Given the description of an element on the screen output the (x, y) to click on. 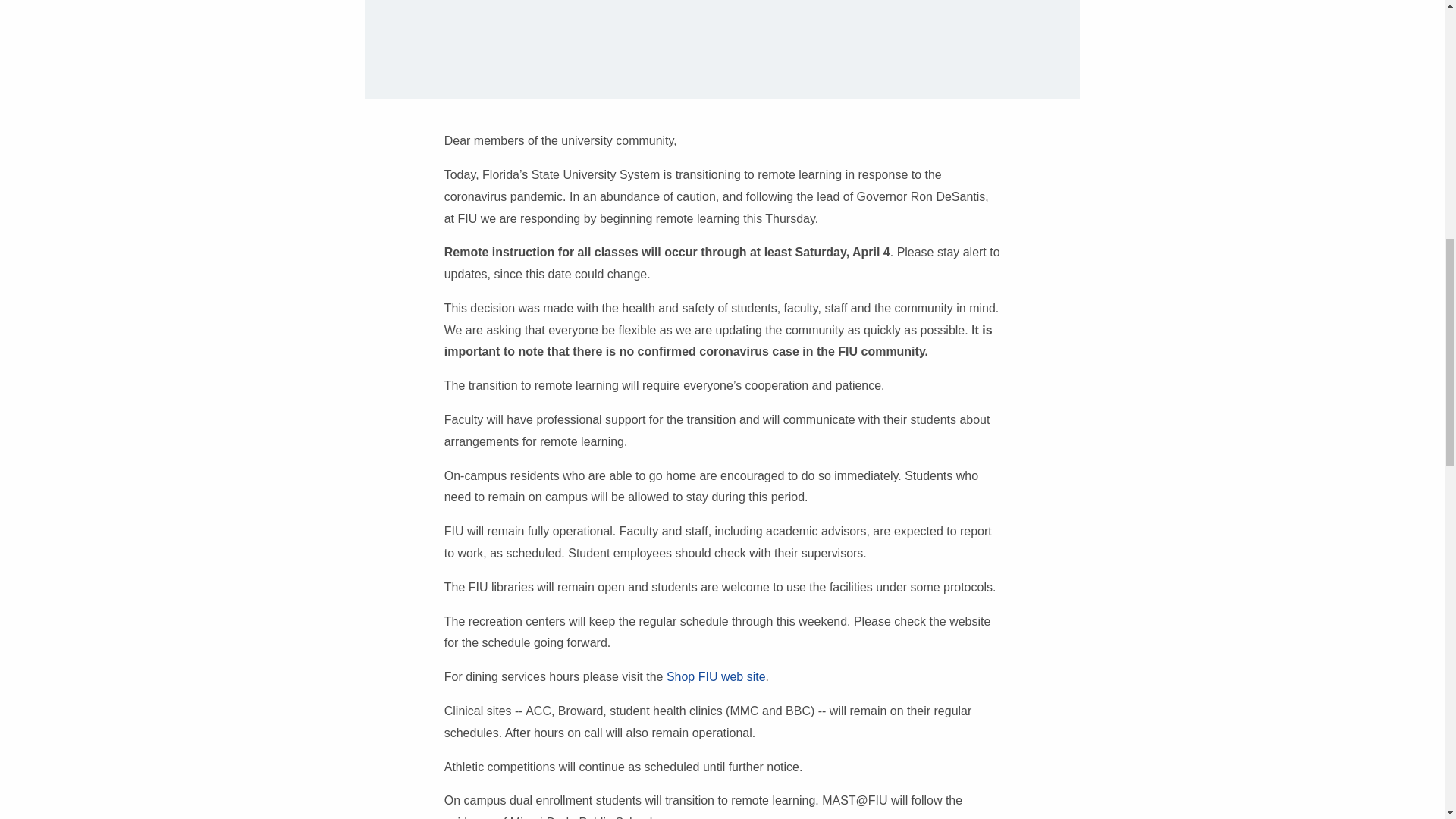
Shop FIU web site (715, 676)
